Given the description of an element on the screen output the (x, y) to click on. 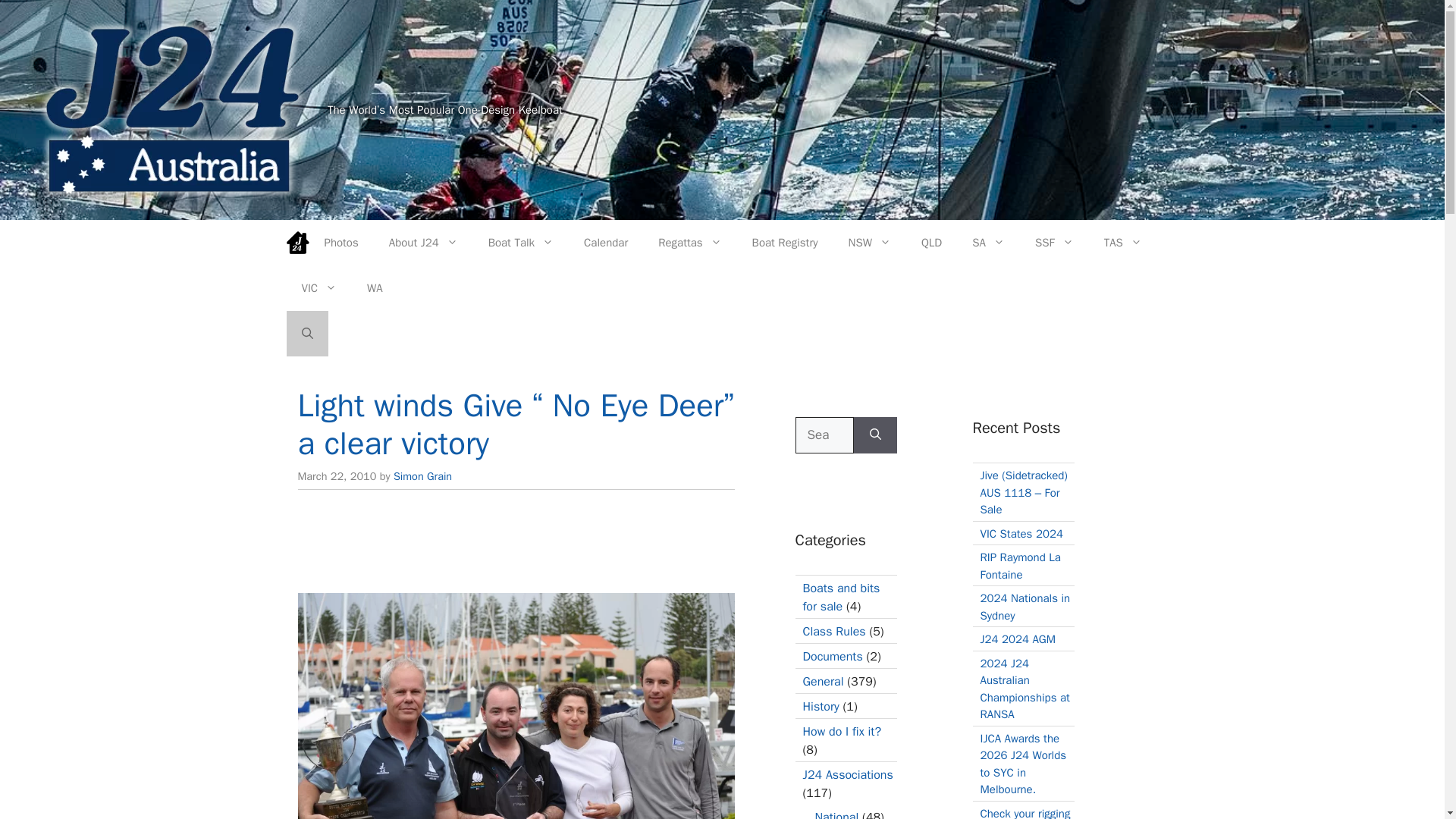
J24 Australia.. (172, 108)
QLD (930, 242)
Calendar (606, 242)
View all posts by Simon Grain (422, 476)
NSW (868, 242)
SA (988, 242)
About J24 (423, 242)
Regattas (689, 242)
Trevor Conyers Crew (515, 705)
Photos (341, 242)
